Given the description of an element on the screen output the (x, y) to click on. 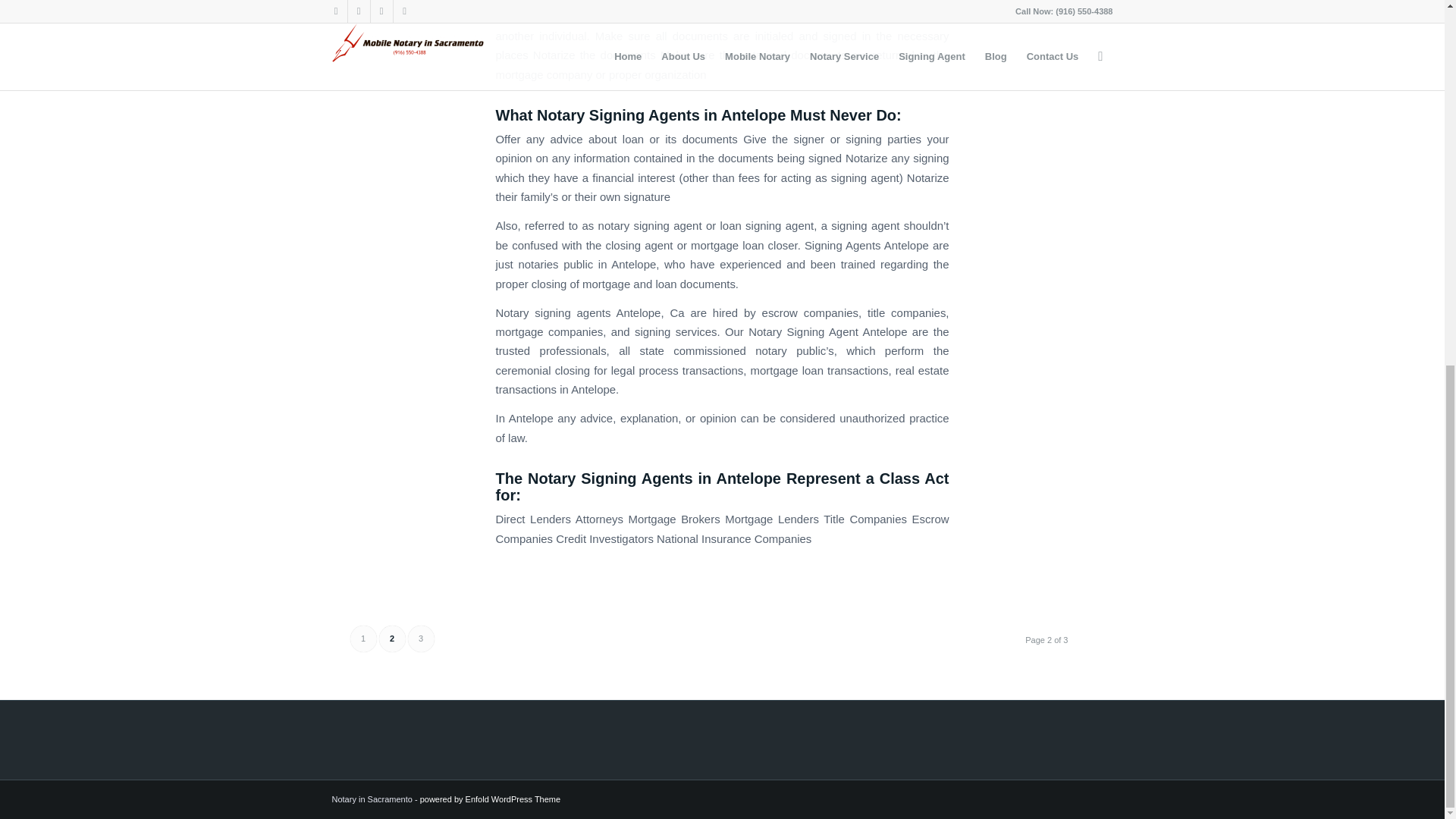
powered by Enfold WordPress Theme (490, 798)
3 (420, 638)
1 (363, 638)
